Given the description of an element on the screen output the (x, y) to click on. 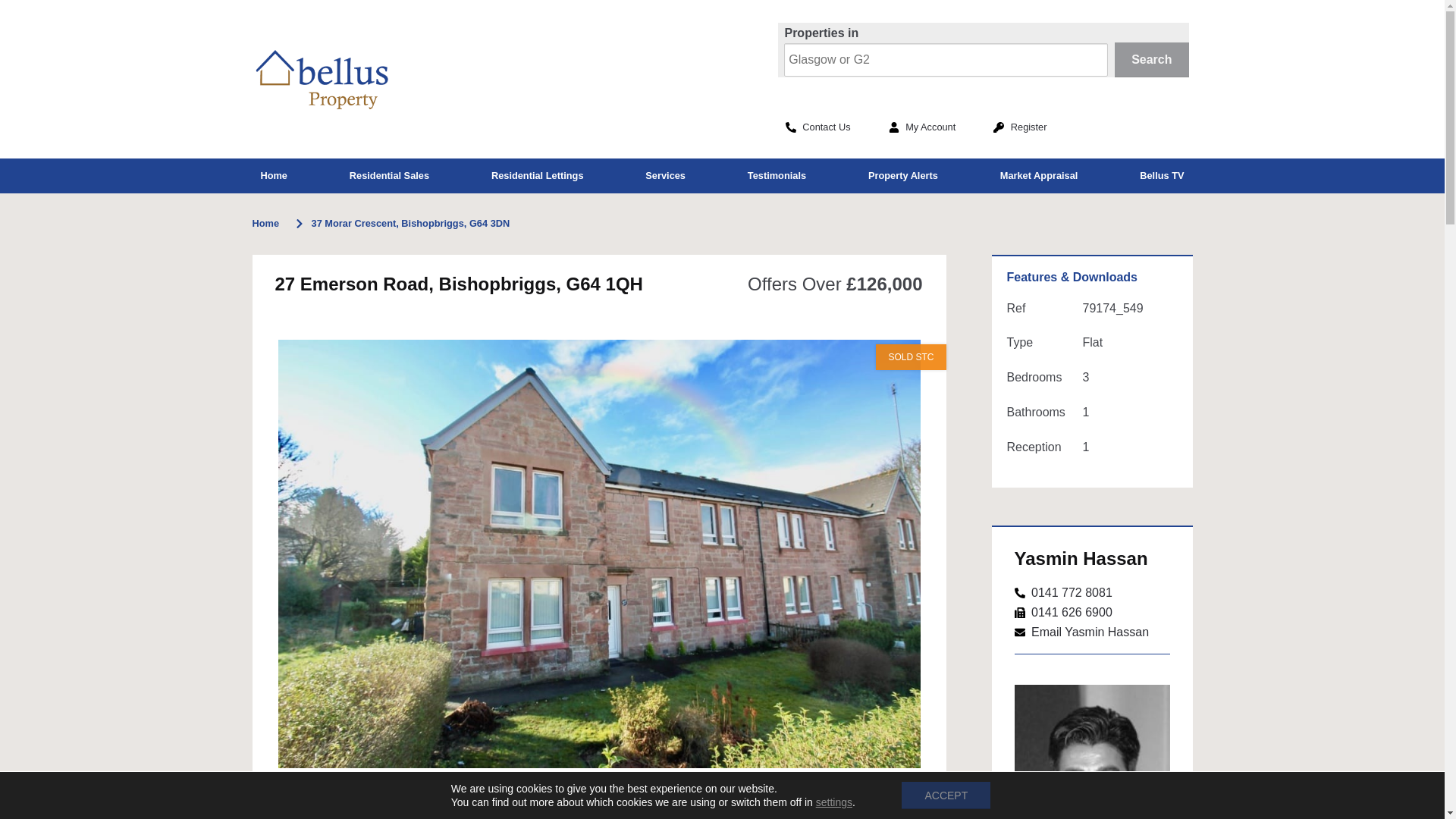
Testimonials (776, 175)
Contact Us (818, 127)
Search (1152, 59)
Home (272, 175)
Bellus TV (1161, 175)
My Account (922, 127)
Market Appraisal (1038, 175)
Residential Sales (389, 175)
Property Alerts (903, 175)
Search (1152, 59)
Residential Lettings (537, 175)
Services (665, 175)
Register (1019, 127)
